Given the description of an element on the screen output the (x, y) to click on. 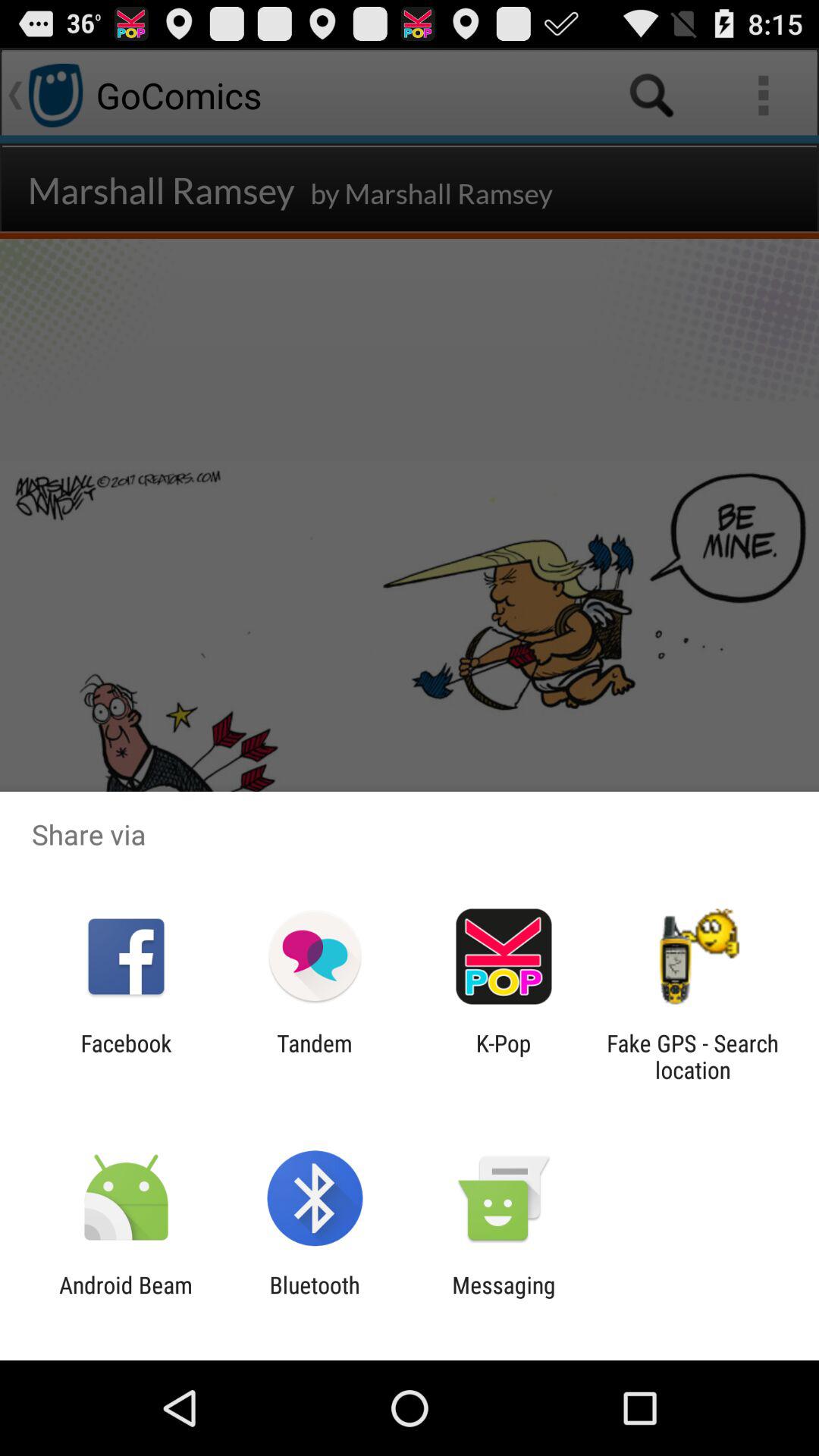
click tandem icon (314, 1056)
